Given the description of an element on the screen output the (x, y) to click on. 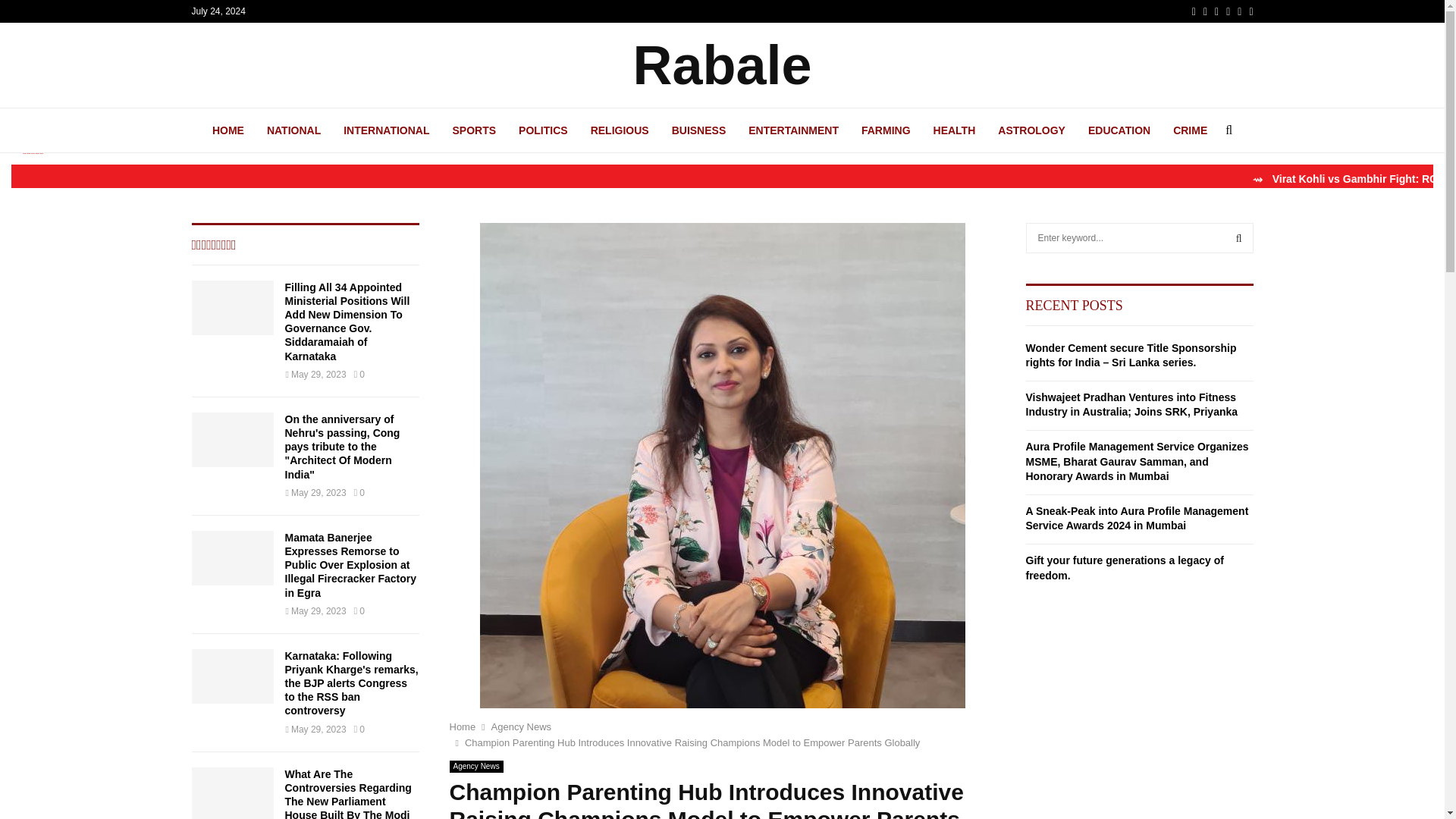
Whatsapp (1250, 11)
CRIME (1190, 130)
Whatsapp (1250, 11)
Home (462, 726)
NATIONAL (293, 130)
HEALTH (954, 130)
RELIGIOUS (620, 130)
POLITICS (542, 130)
HOME (228, 130)
Twitter (1205, 11)
Rabale (720, 64)
BUISNESS (698, 130)
Instagram (1216, 11)
Facebook (1193, 11)
